Given the description of an element on the screen output the (x, y) to click on. 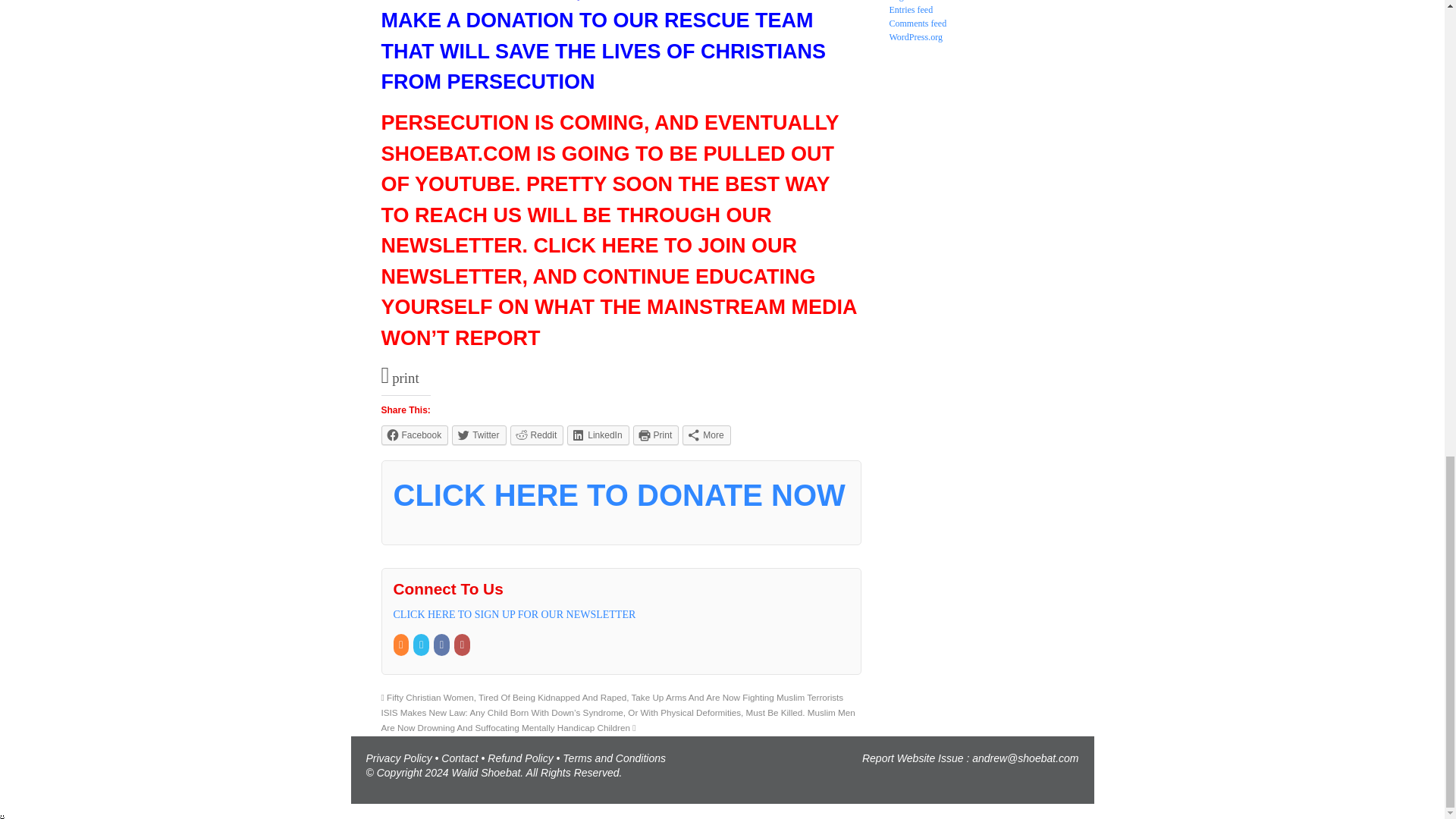
Click to share on Twitter (478, 435)
More (706, 435)
Facebook (414, 435)
Twitter (478, 435)
Print (656, 435)
Click to share on Reddit (537, 435)
Reddit (537, 435)
RSS (401, 644)
Click to print (656, 435)
Twitter (421, 644)
